Given the description of an element on the screen output the (x, y) to click on. 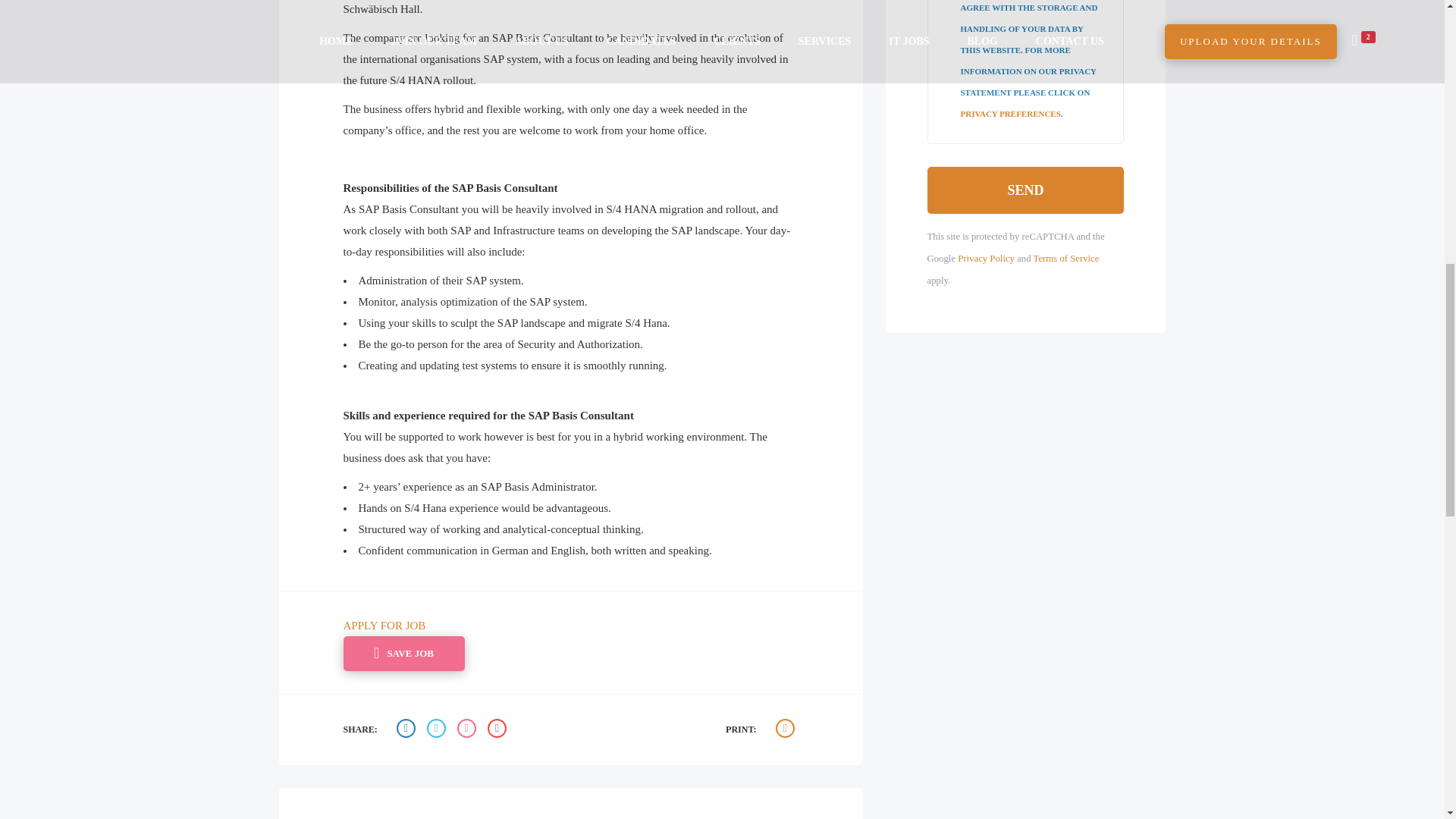
Send (1025, 190)
Share on Twitter (437, 729)
Email (499, 729)
Share on Facebook (407, 729)
Share on Linkedin (468, 729)
